Given the description of an element on the screen output the (x, y) to click on. 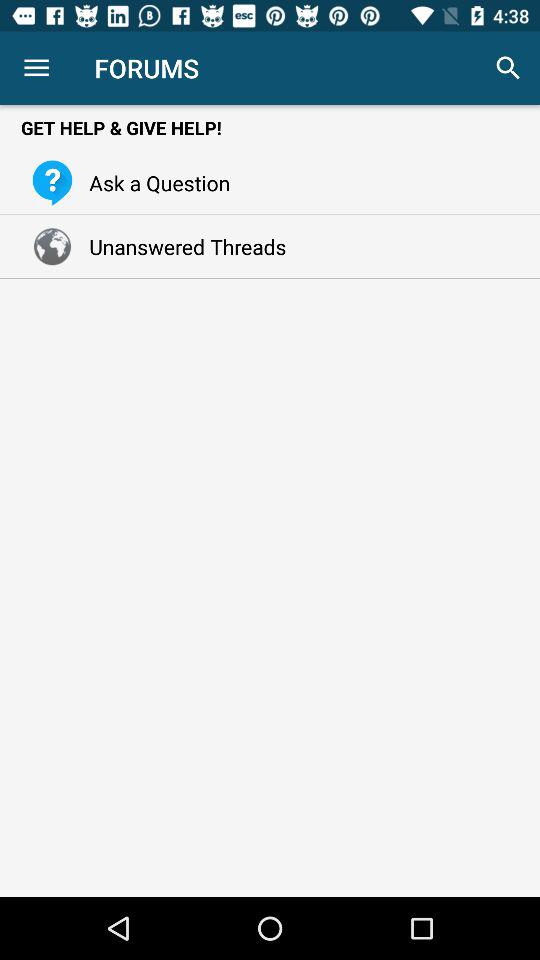
press icon to the right of the forums (508, 67)
